Given the description of an element on the screen output the (x, y) to click on. 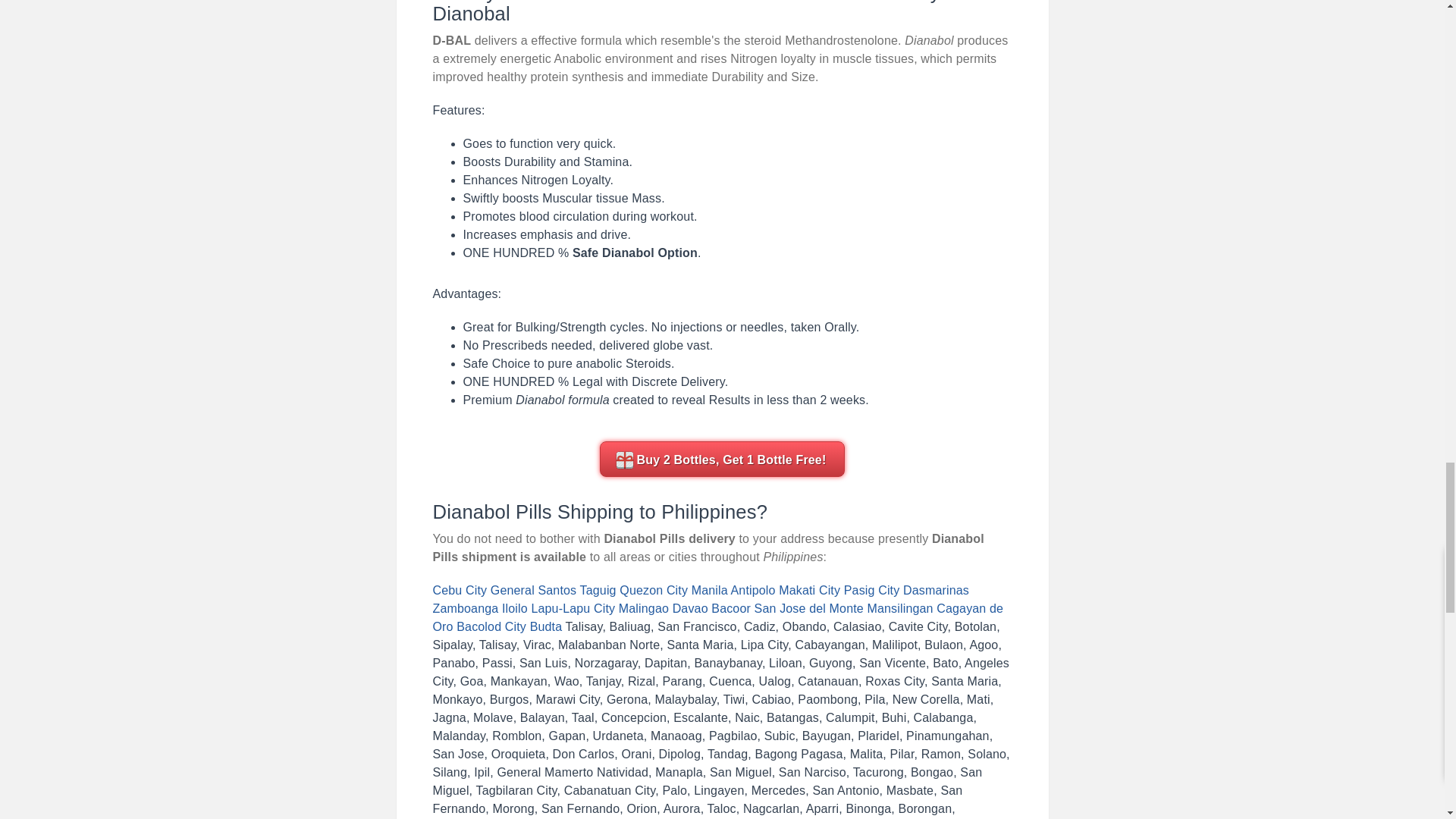
Bacolod City (491, 626)
Best Place to Buy Dianabol Pills Online Taguig (597, 590)
Davao (689, 608)
Best Place to Buy Dianabol Pills Online Cebu City (459, 590)
General Santos (533, 590)
Cebu City (459, 590)
Best Place to Buy Dianabol Pills Online Antipolo (753, 590)
Lapu-Lapu City (572, 608)
Manila (709, 590)
Antipolo (753, 590)
Zamboanga (464, 608)
Best Place to Buy Dianabol Pills Online Zamboanga (464, 608)
Best Place to Buy Dianabol Pills Online Quezon City (653, 590)
Budta (545, 626)
Best Place to Buy Dianabol Pills Online Malingao (643, 608)
